Given the description of an element on the screen output the (x, y) to click on. 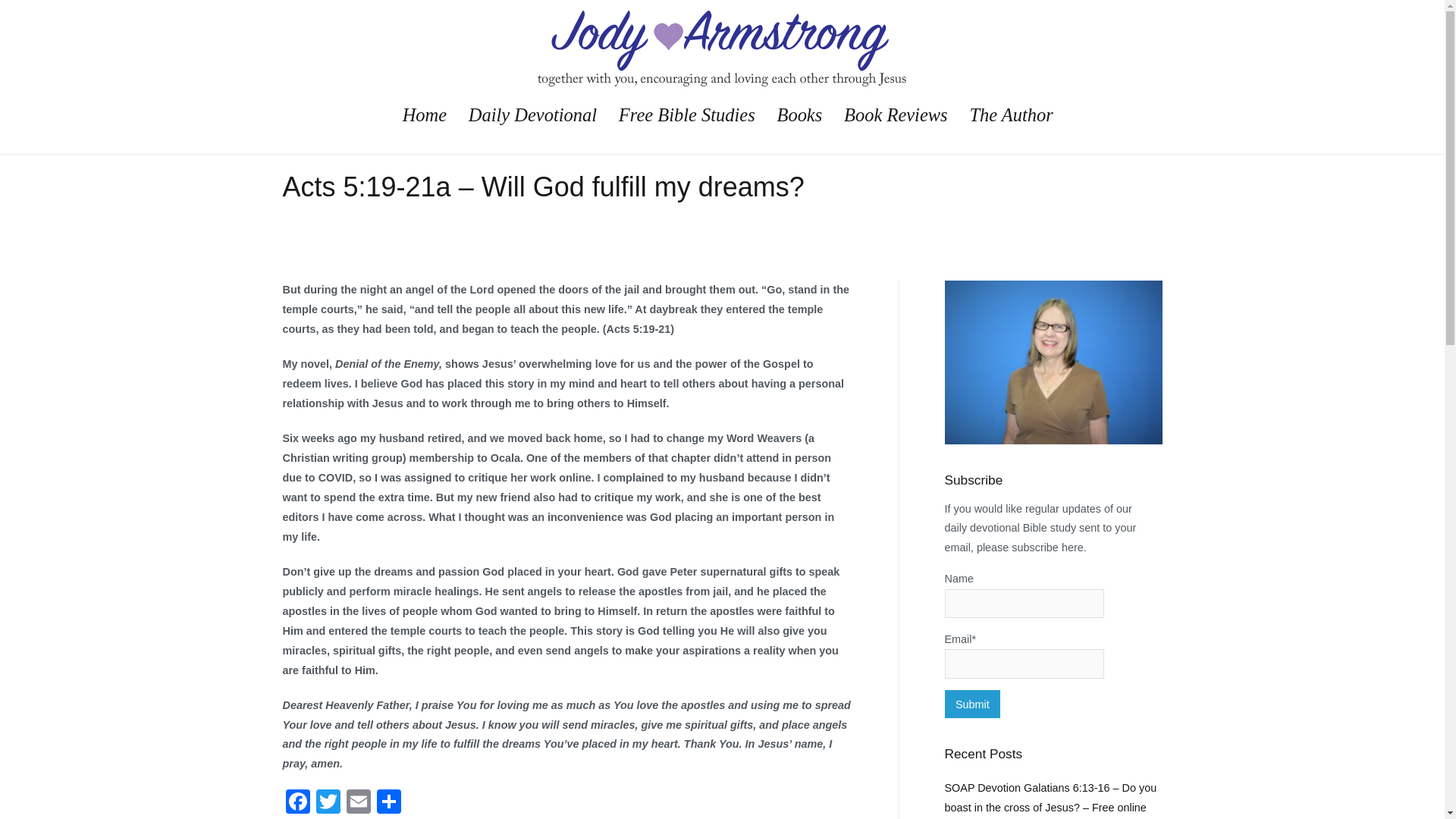
Email (357, 803)
Facebook (297, 803)
Free Bible Studies (686, 114)
The Author (1010, 114)
Twitter (327, 803)
Facebook (297, 803)
Submit (972, 703)
Email (357, 803)
Jody Armstrong (771, 97)
Book Reviews (895, 114)
